Given the description of an element on the screen output the (x, y) to click on. 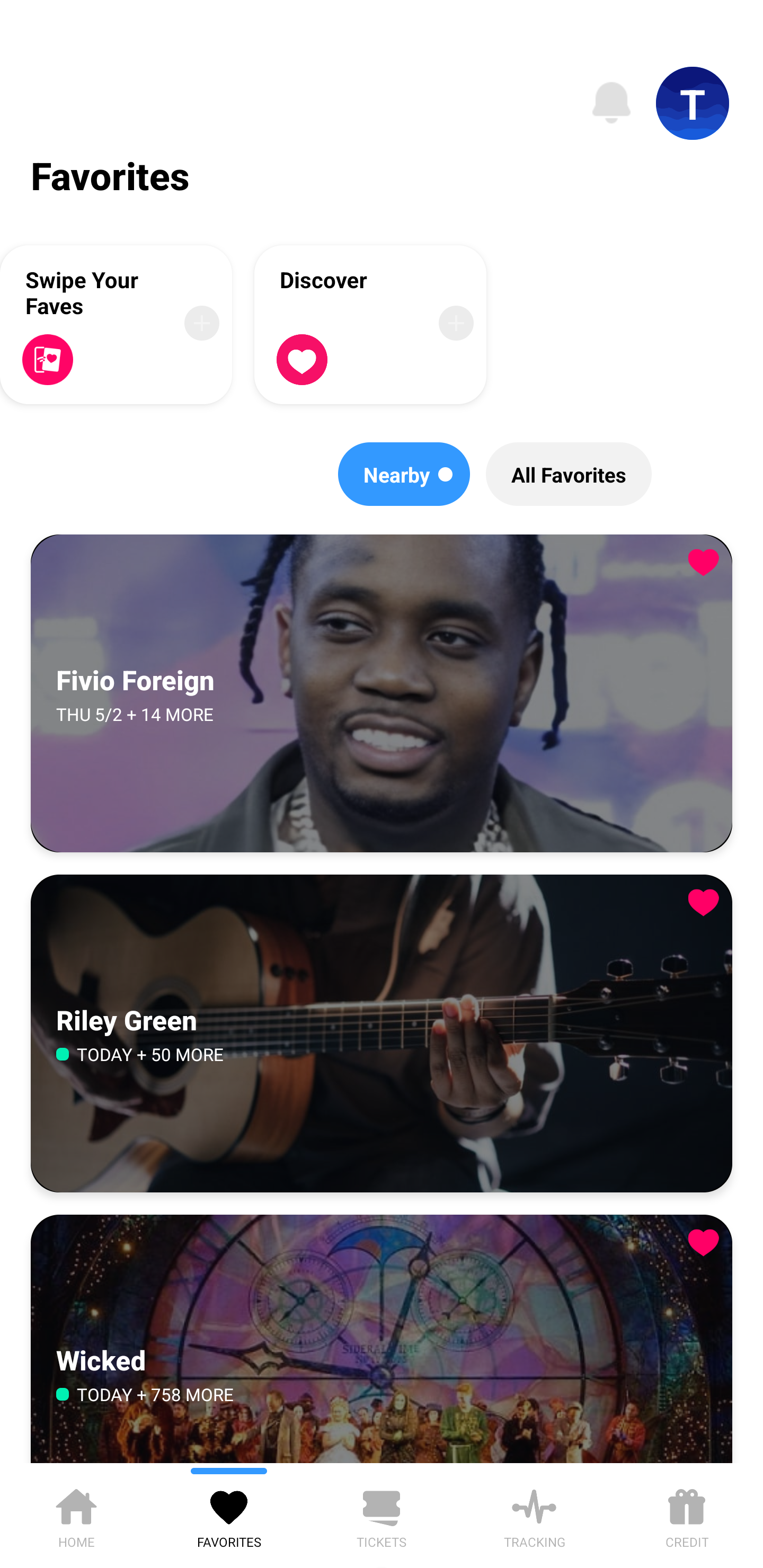
T (692, 103)
Swipe Your  Faves (115, 324)
Discover (370, 324)
Nearby (404, 474)
All Favorites (568, 474)
Wicked, TODAY + 758 MORE  Wicked TODAY + 758 MORE  (381, 1338)
HOME (76, 1515)
FAVORITES (228, 1515)
TICKETS (381, 1515)
TRACKING (533, 1515)
CREDIT (686, 1515)
